Given the description of an element on the screen output the (x, y) to click on. 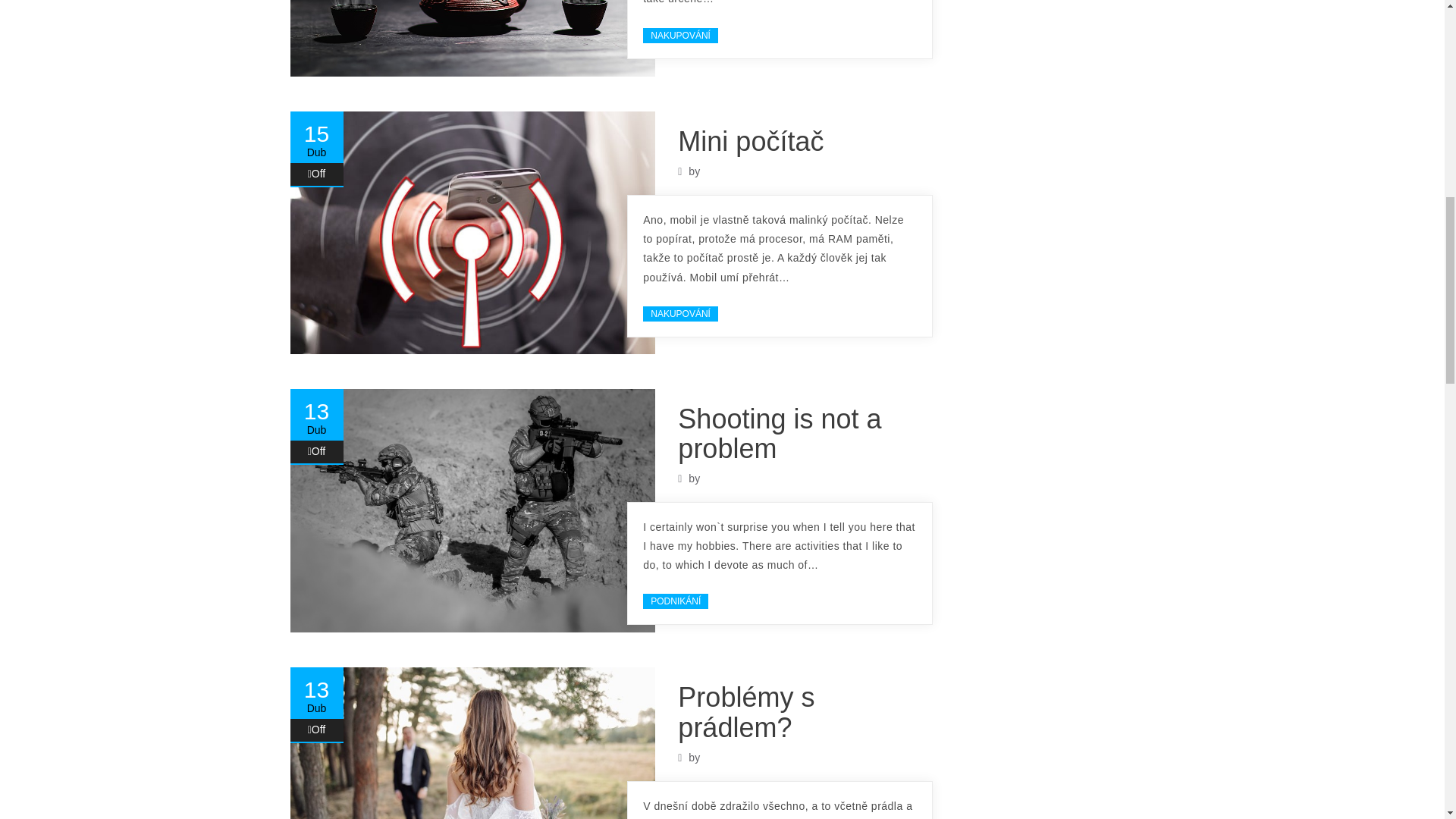
Shooting is not a problem (779, 434)
Shooting is not a problem (472, 511)
Shooting is not a problem (779, 434)
